Given the description of an element on the screen output the (x, y) to click on. 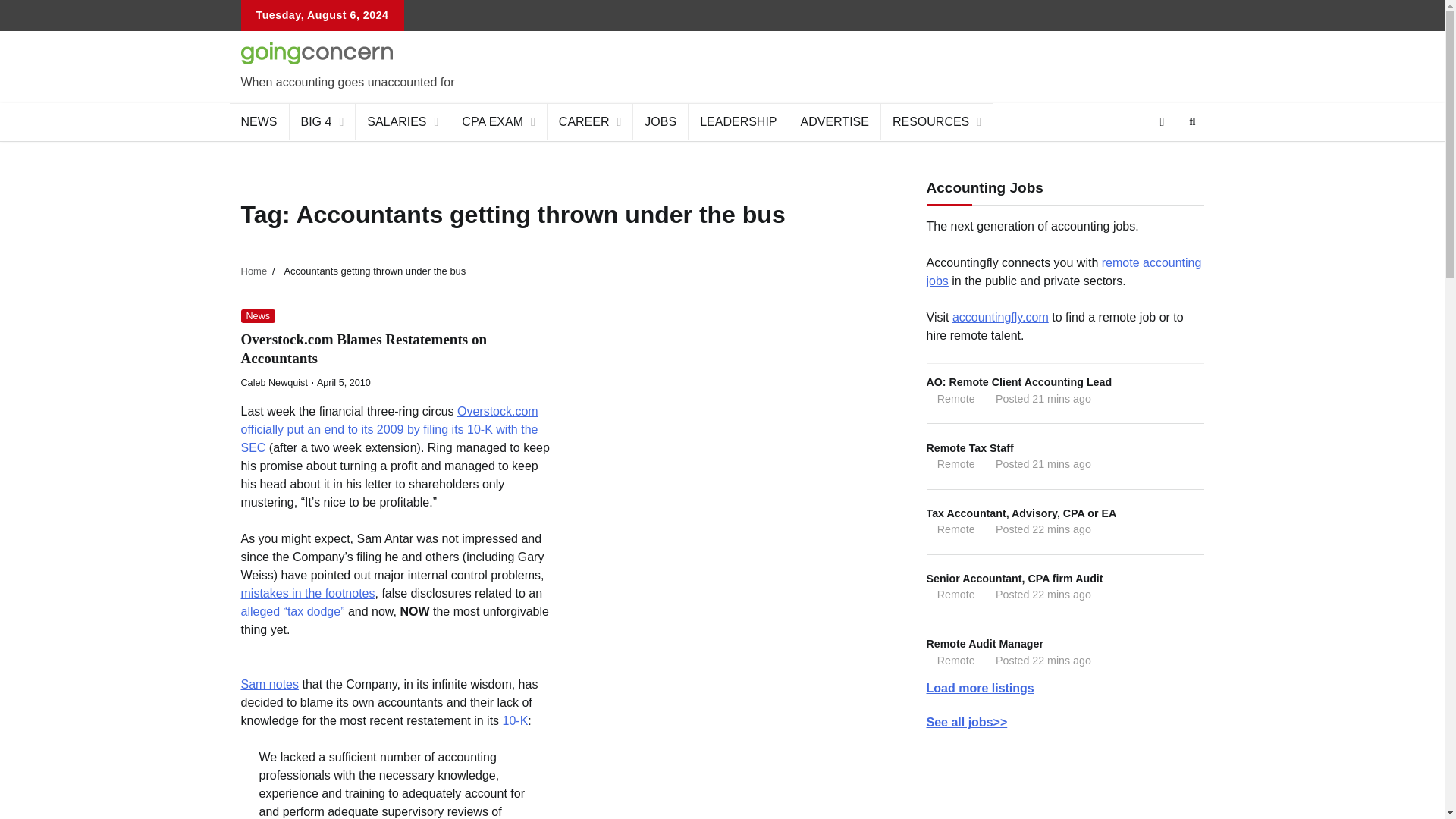
10-K (515, 720)
Home (254, 270)
mistakes in the footnotes (308, 593)
News (258, 316)
Sam notes (269, 684)
Search (1192, 121)
JOBS (660, 121)
ADVERTISE (834, 121)
Caleb Newquist (274, 382)
SALARIES (402, 121)
